Given the description of an element on the screen output the (x, y) to click on. 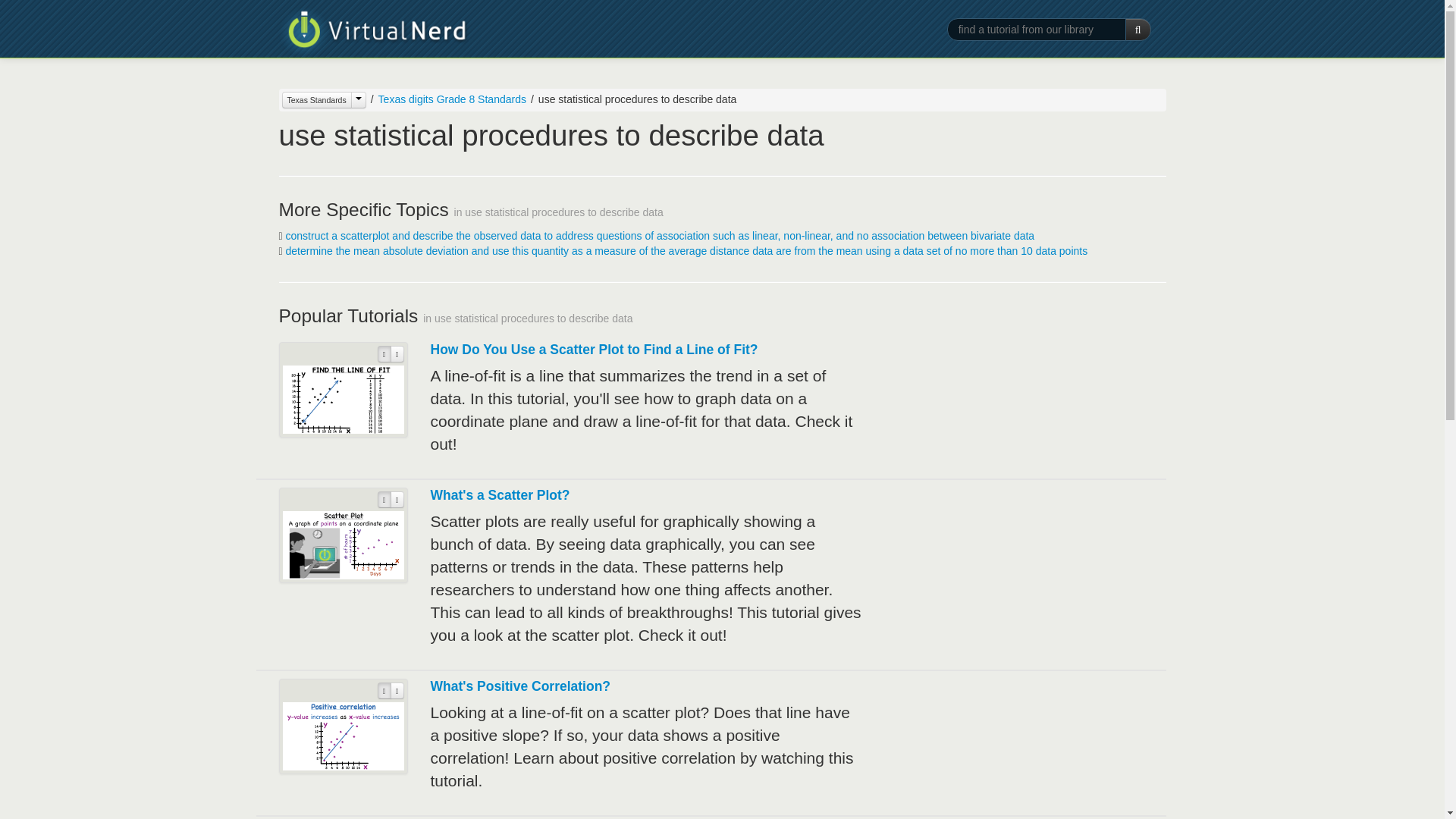
Texas Standards (317, 99)
Texas digits Grade 8 Standards (445, 99)
What's Positive Correlation? (520, 685)
Virtual Nerd (373, 32)
Texas digits Grade 8 Standards (451, 99)
use statistical procedures to describe data (630, 99)
How Do You Use a Scatter Plot to Find a Line of Fit? (594, 349)
What's a Scatter Plot? (500, 494)
